Given the description of an element on the screen output the (x, y) to click on. 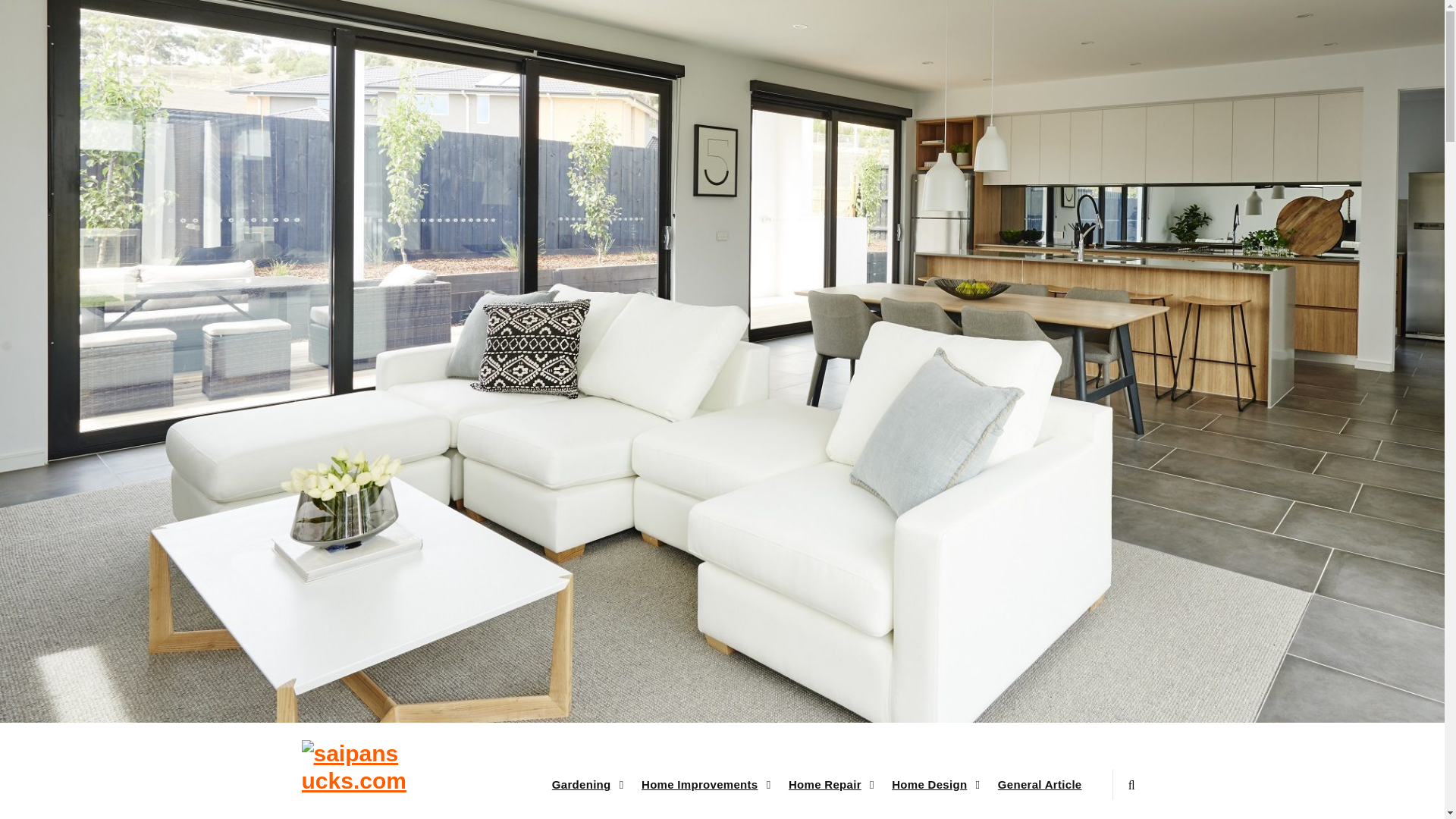
Gardening (585, 784)
